Given the description of an element on the screen output the (x, y) to click on. 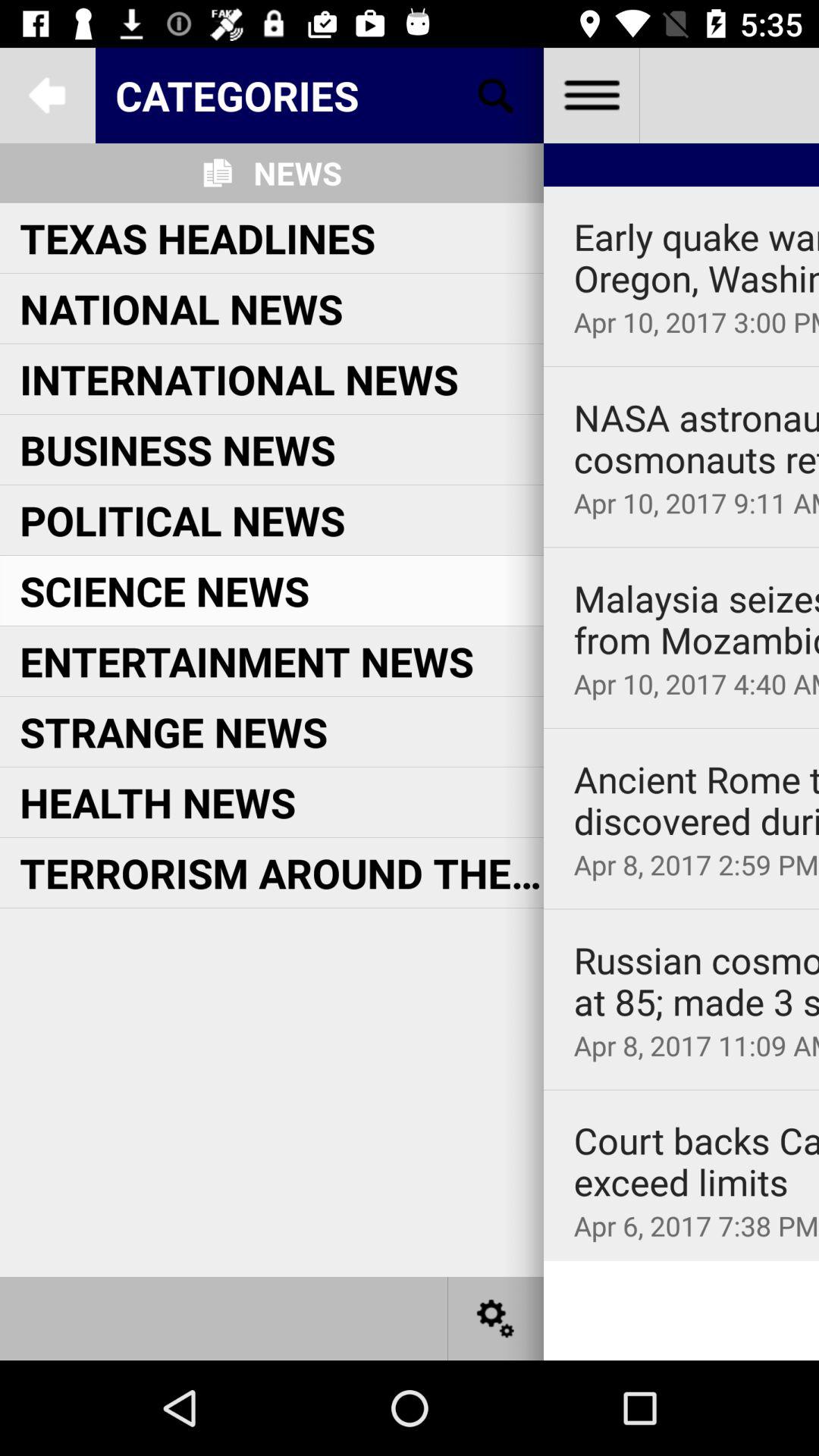
search categories (495, 95)
